Given the description of an element on the screen output the (x, y) to click on. 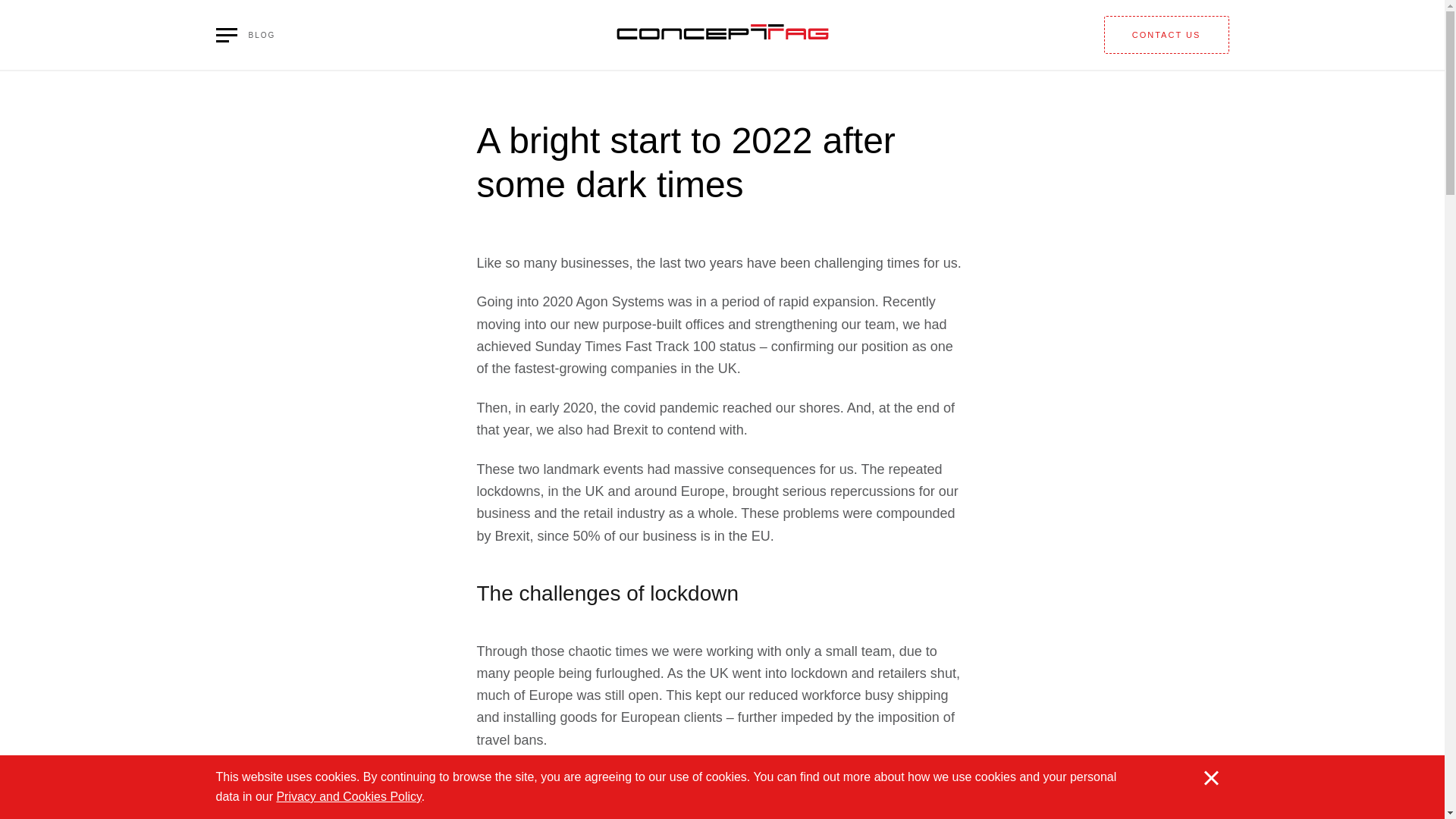
CONTACT US (1165, 34)
BLOG (245, 35)
Privacy and Cookies Policy (348, 796)
